Given the description of an element on the screen output the (x, y) to click on. 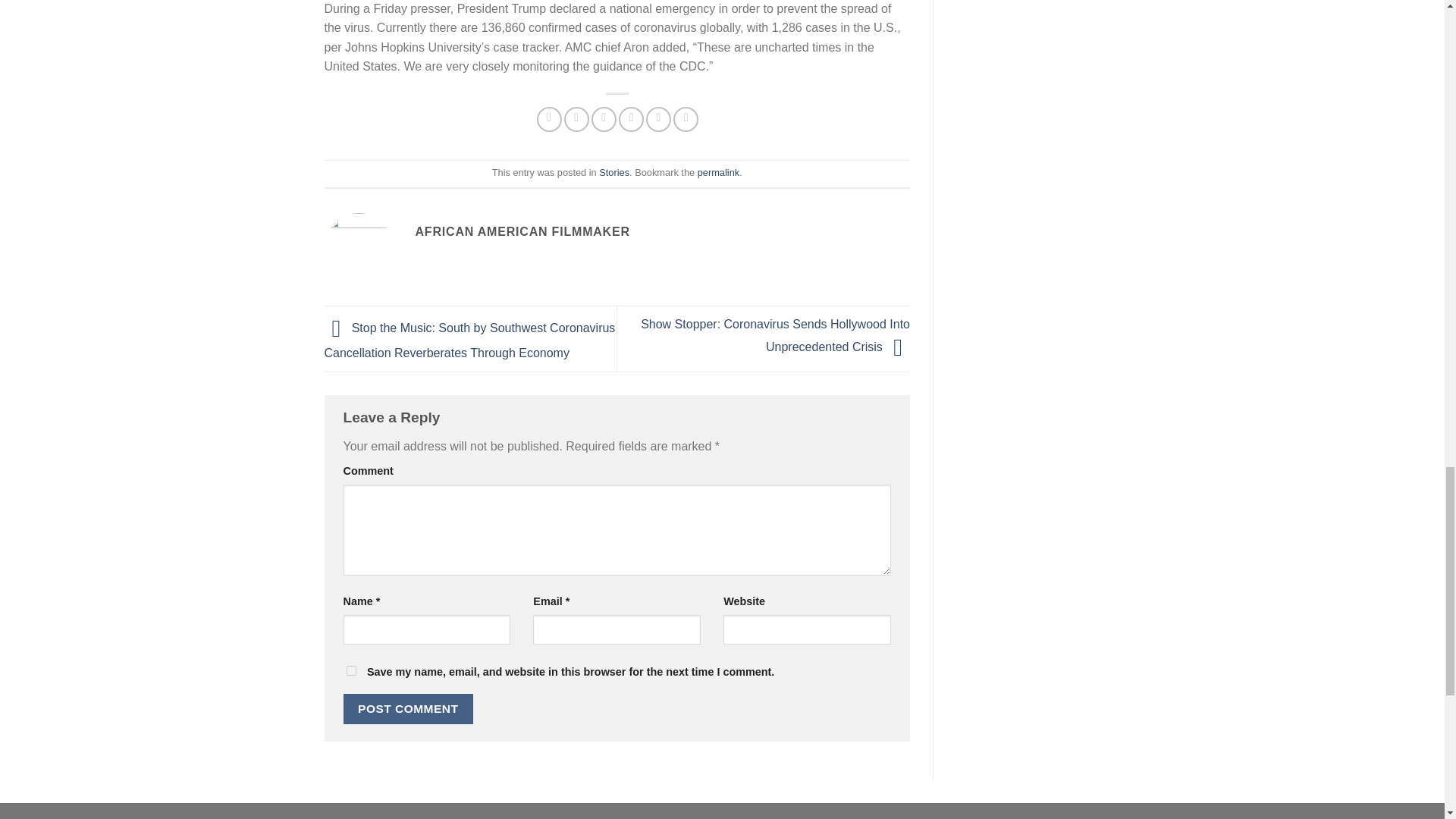
Share on LinkedIn (685, 119)
Post Comment (407, 708)
Pin on Pinterest (630, 119)
yes (350, 670)
Email to a Friend (603, 119)
Share on Twitter (576, 119)
Share on Facebook (549, 119)
